Given the description of an element on the screen output the (x, y) to click on. 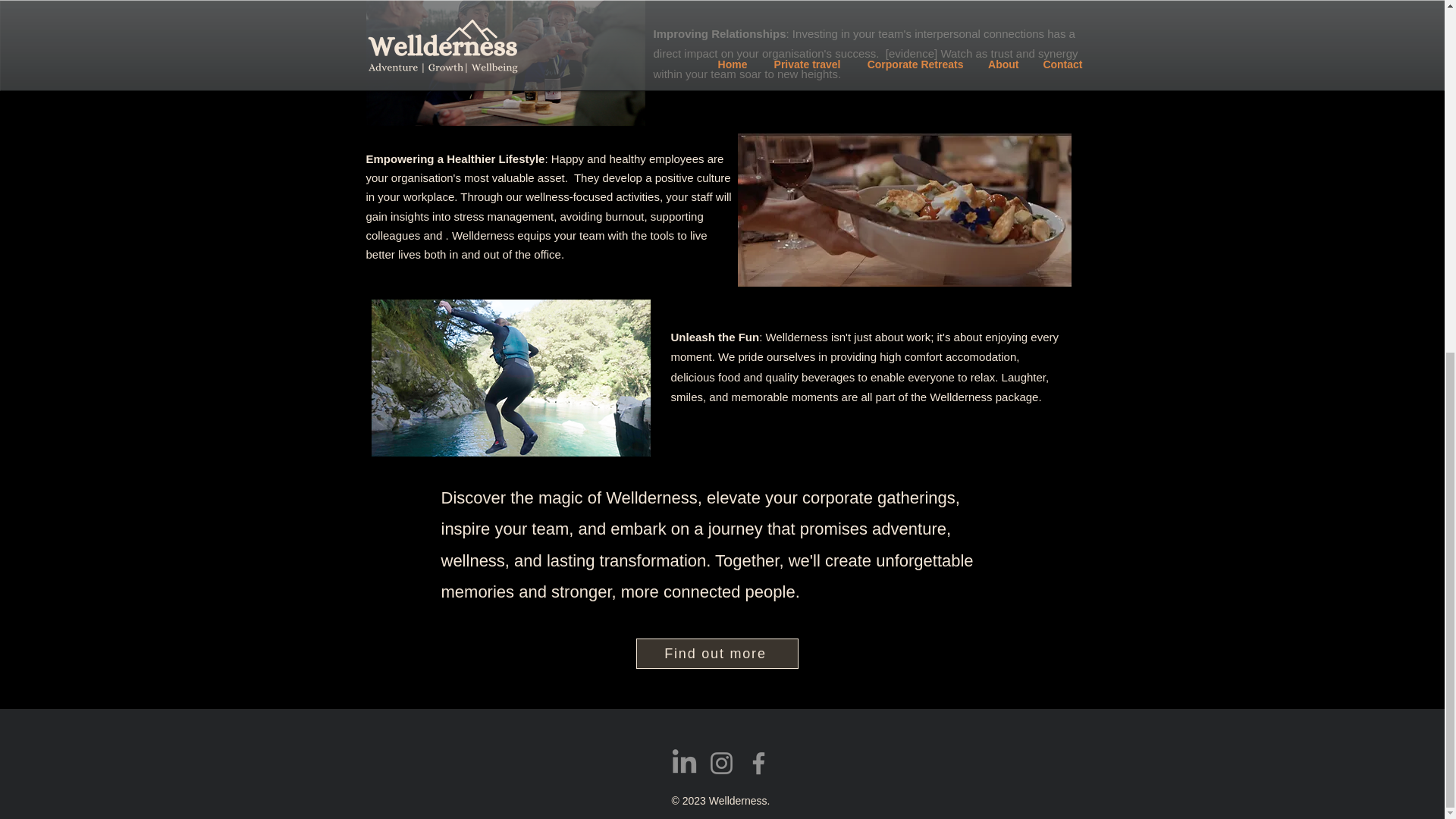
Find out more (715, 653)
